Given the description of an element on the screen output the (x, y) to click on. 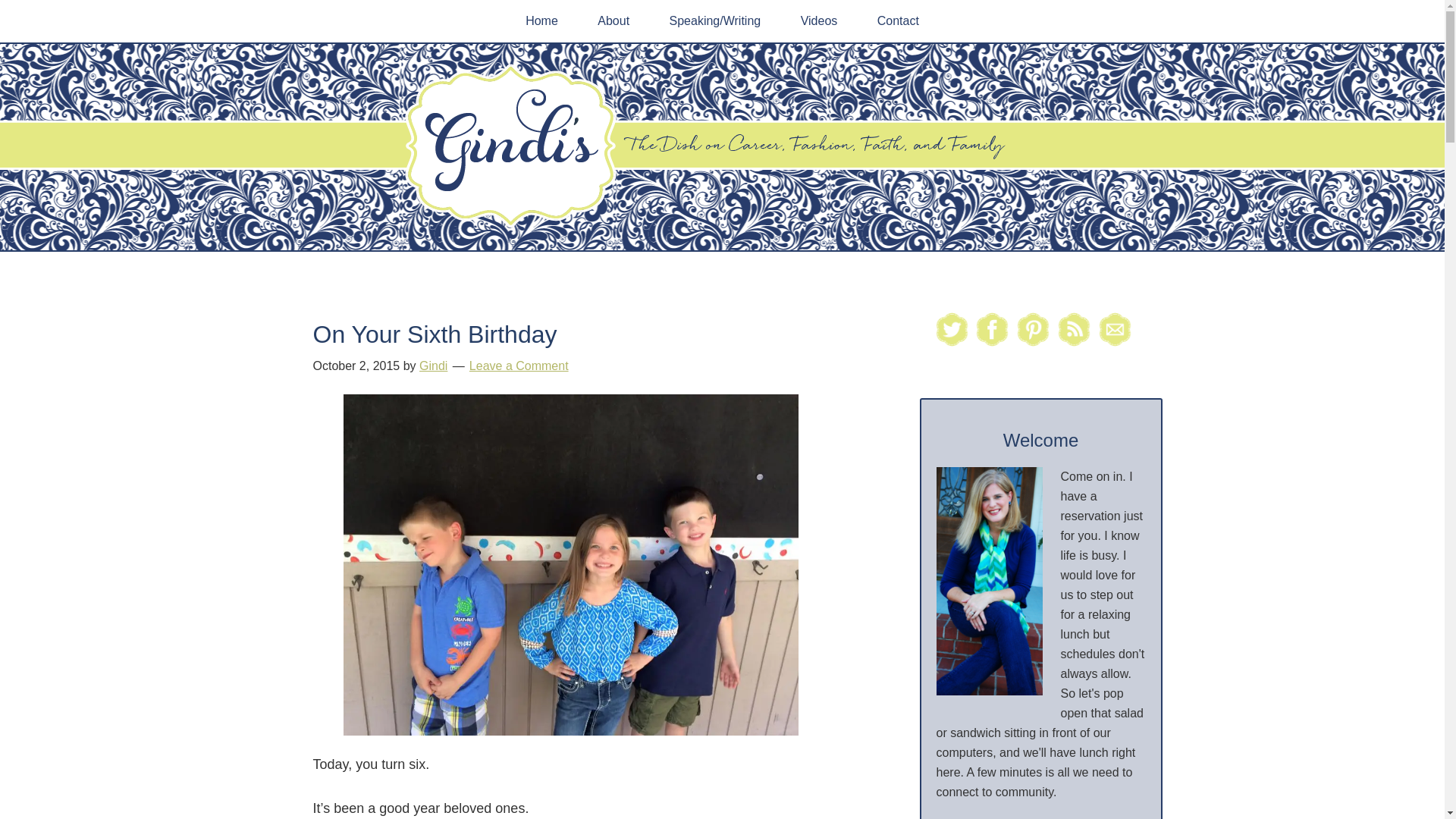
About (613, 21)
Videos (819, 21)
Home (541, 21)
Contact (898, 21)
Leave a Comment (518, 365)
Gindi (432, 365)
